Given the description of an element on the screen output the (x, y) to click on. 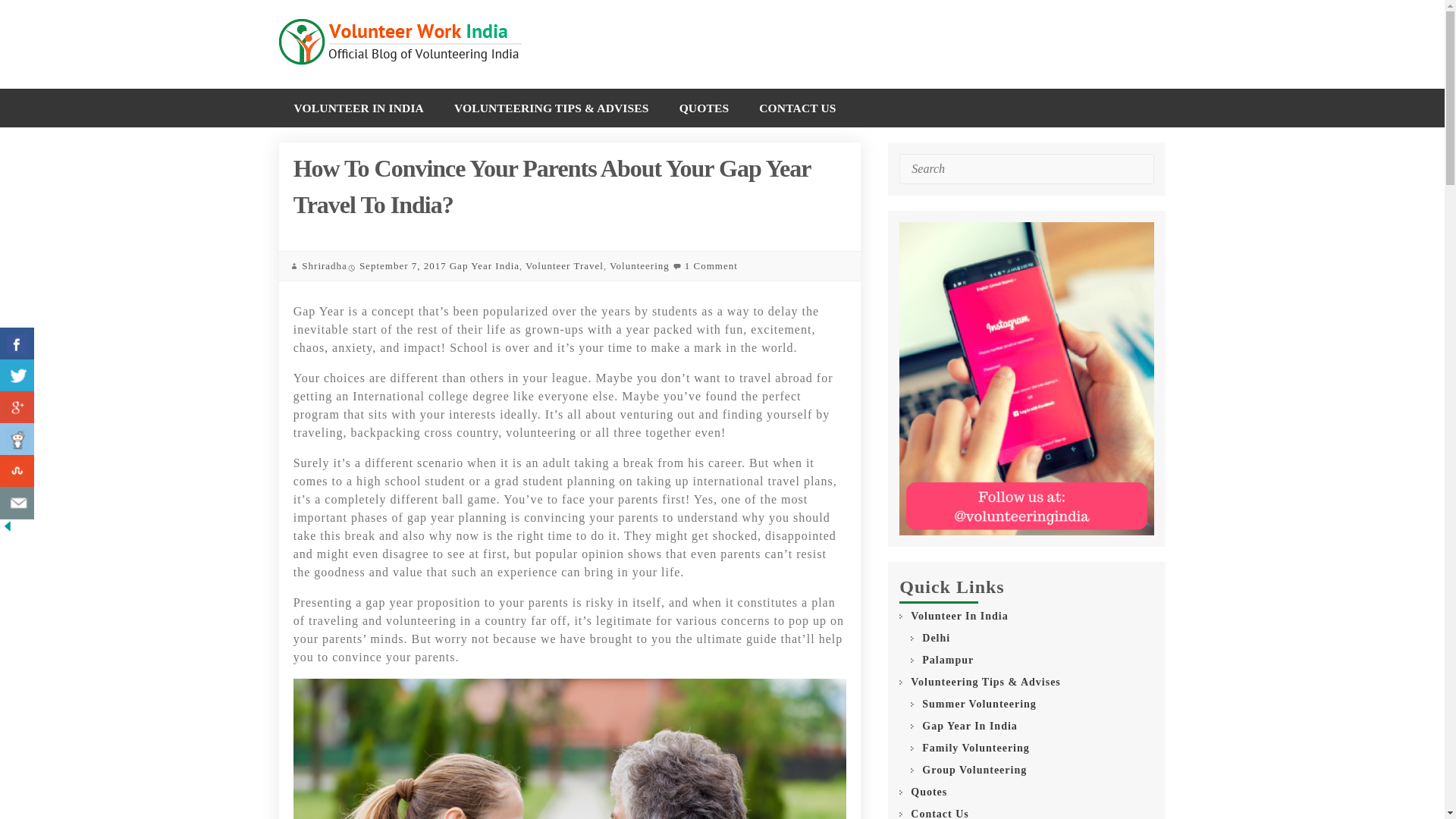
VOLUNTEER IN INDIA (359, 107)
Share On Facebook (16, 343)
Hide Buttons (7, 526)
Volunteer Travel (564, 265)
Family Volunteering (975, 747)
Palampur (947, 659)
QUOTES (703, 107)
Share On Reddit (16, 439)
Delhi (935, 637)
Shriradha (324, 265)
Share On Stumbleupon (16, 471)
1 Comment (711, 265)
Group Volunteering (973, 770)
Contact us (16, 502)
Contact Us (940, 812)
